Given the description of an element on the screen output the (x, y) to click on. 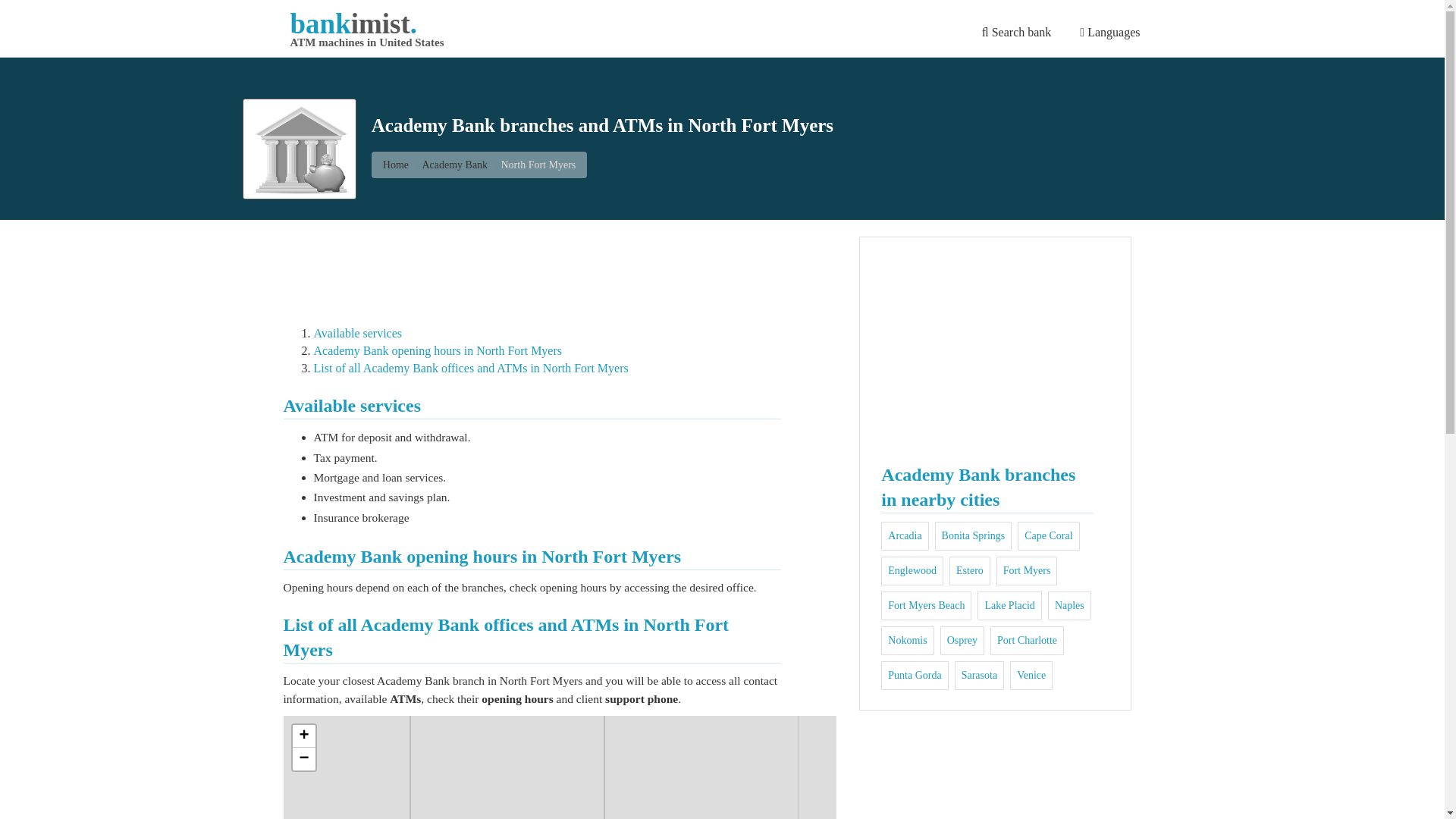
Advertisement (559, 270)
Advertisement (994, 345)
Nokomis (367, 31)
Naples (907, 640)
Languages (1069, 604)
Port Charlotte (1110, 31)
Available services (1027, 640)
Cape Coral (358, 332)
Fort Myers (1048, 535)
Academy Bank (1027, 570)
Bonita Springs (454, 164)
Lake Placid (974, 535)
Englewood (1008, 604)
Search bank (912, 570)
